Given the description of an element on the screen output the (x, y) to click on. 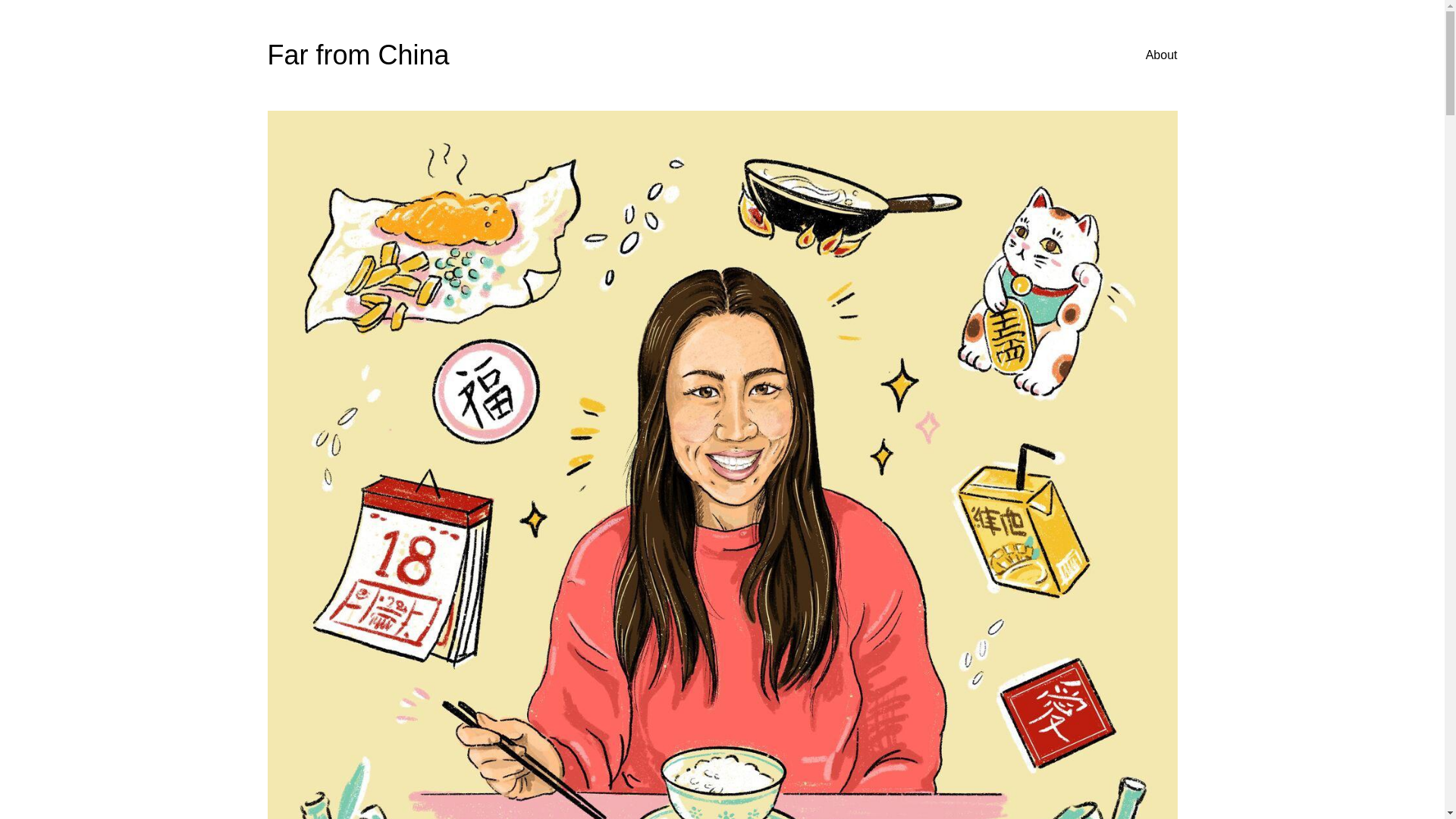
About (1161, 55)
Far from China (357, 54)
